Given the description of an element on the screen output the (x, y) to click on. 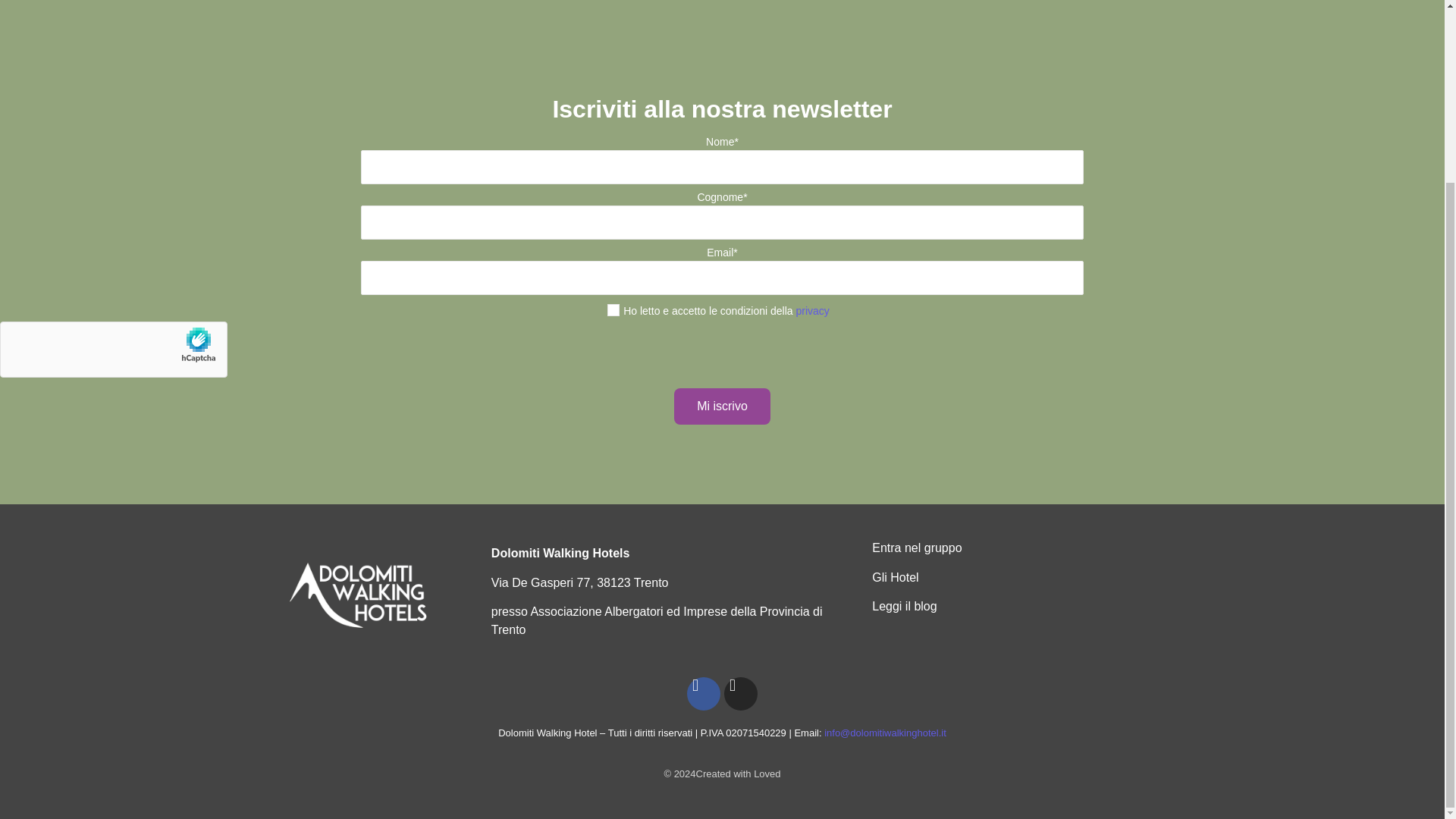
Mi iscrivo (722, 406)
Mi iscrivo (722, 406)
privacy (811, 310)
